Given the description of an element on the screen output the (x, y) to click on. 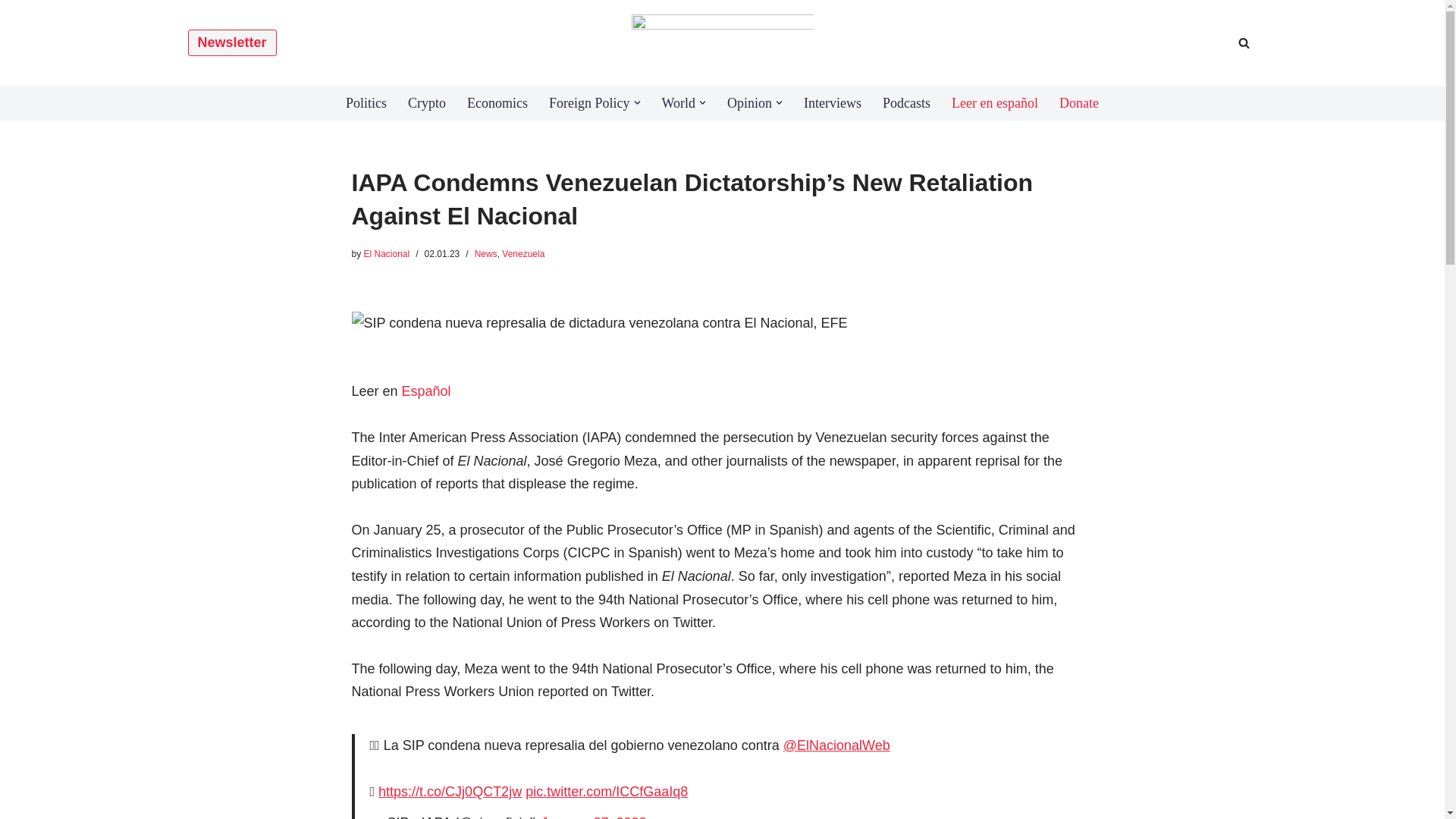
Interviews (832, 102)
World (678, 102)
Foreign Policy (589, 102)
Politics (366, 102)
Crypto (426, 102)
Economics (497, 102)
Posts by El Nacional (387, 253)
Newsletter (231, 42)
Opinion (748, 102)
El American (721, 42)
Donate (1079, 102)
Skip to content (11, 31)
Podcasts (906, 102)
